Given the description of an element on the screen output the (x, y) to click on. 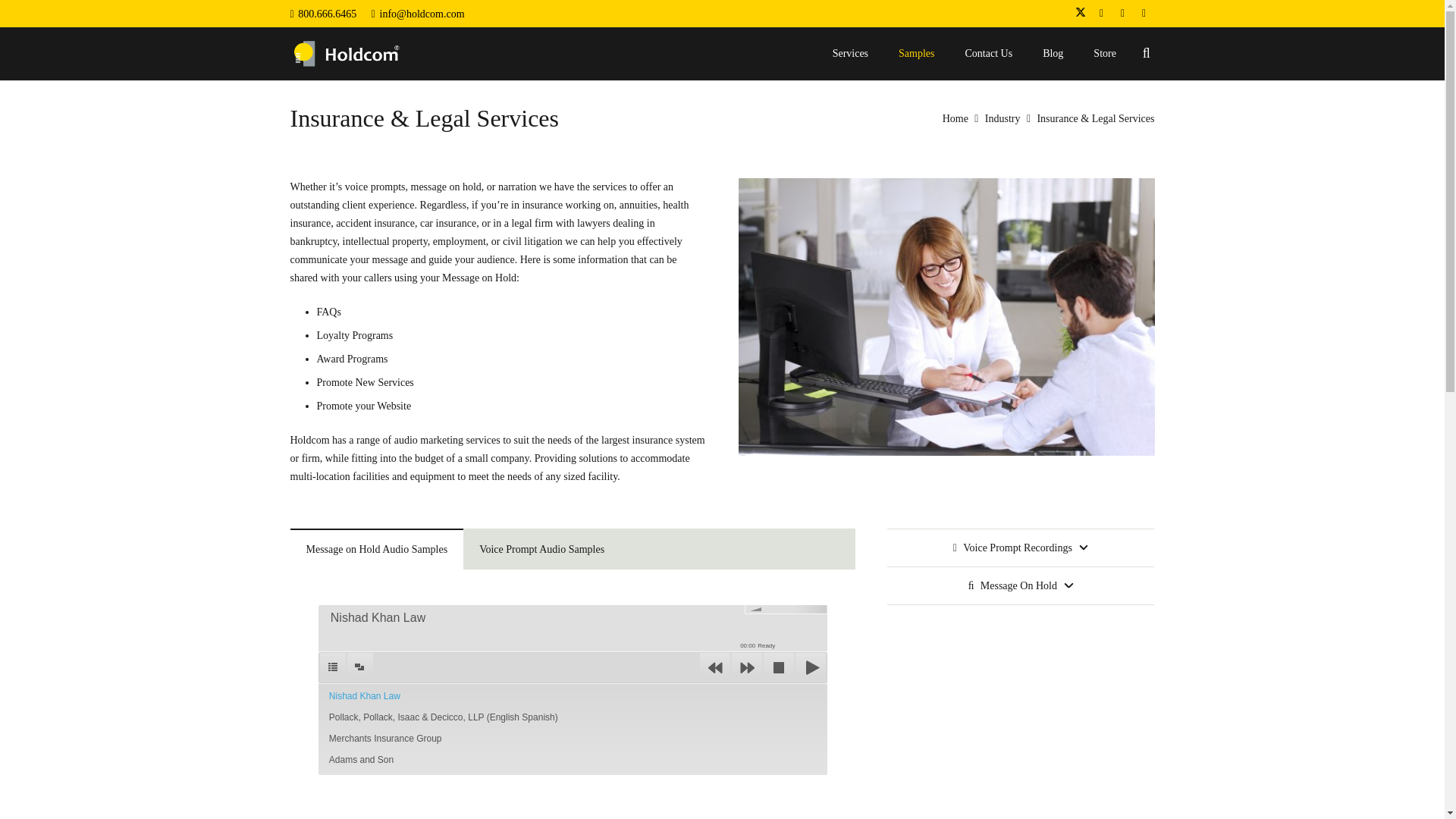
Adams and Son (572, 760)
Industry (1002, 118)
Store (1104, 53)
Twitter (1080, 13)
YouTube (1144, 13)
Merchants Insurance Group (572, 738)
Samples (916, 53)
Nishad Khan Law (572, 696)
Facebook (1101, 13)
Voice Prompt Audio Samples (541, 548)
